Given the description of an element on the screen output the (x, y) to click on. 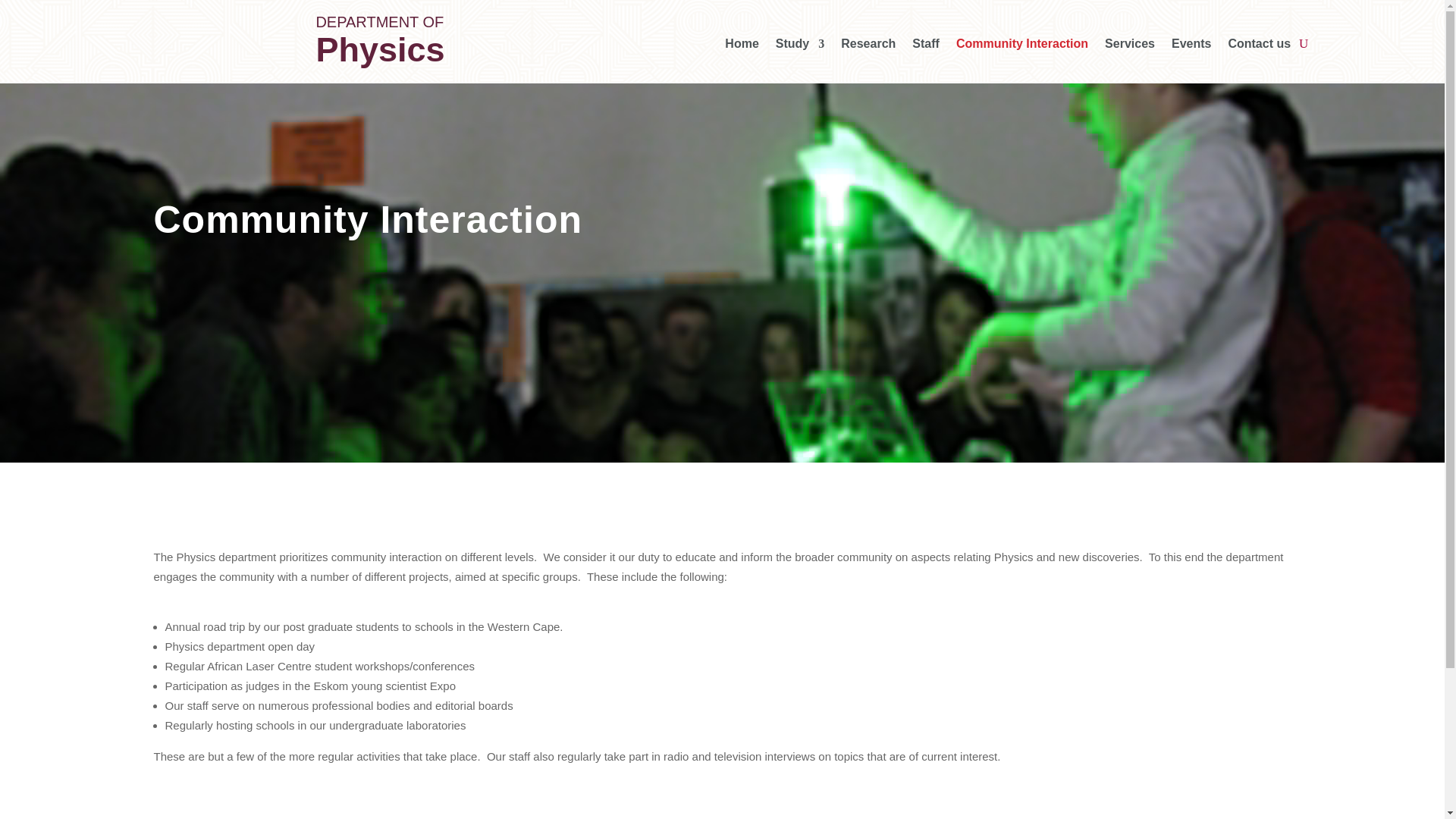
Events (1191, 46)
Study (800, 46)
Community Interaction (1021, 46)
Home (741, 46)
Staff (925, 46)
Contact us (1258, 46)
Services (1129, 46)
Research (868, 46)
